Given the description of an element on the screen output the (x, y) to click on. 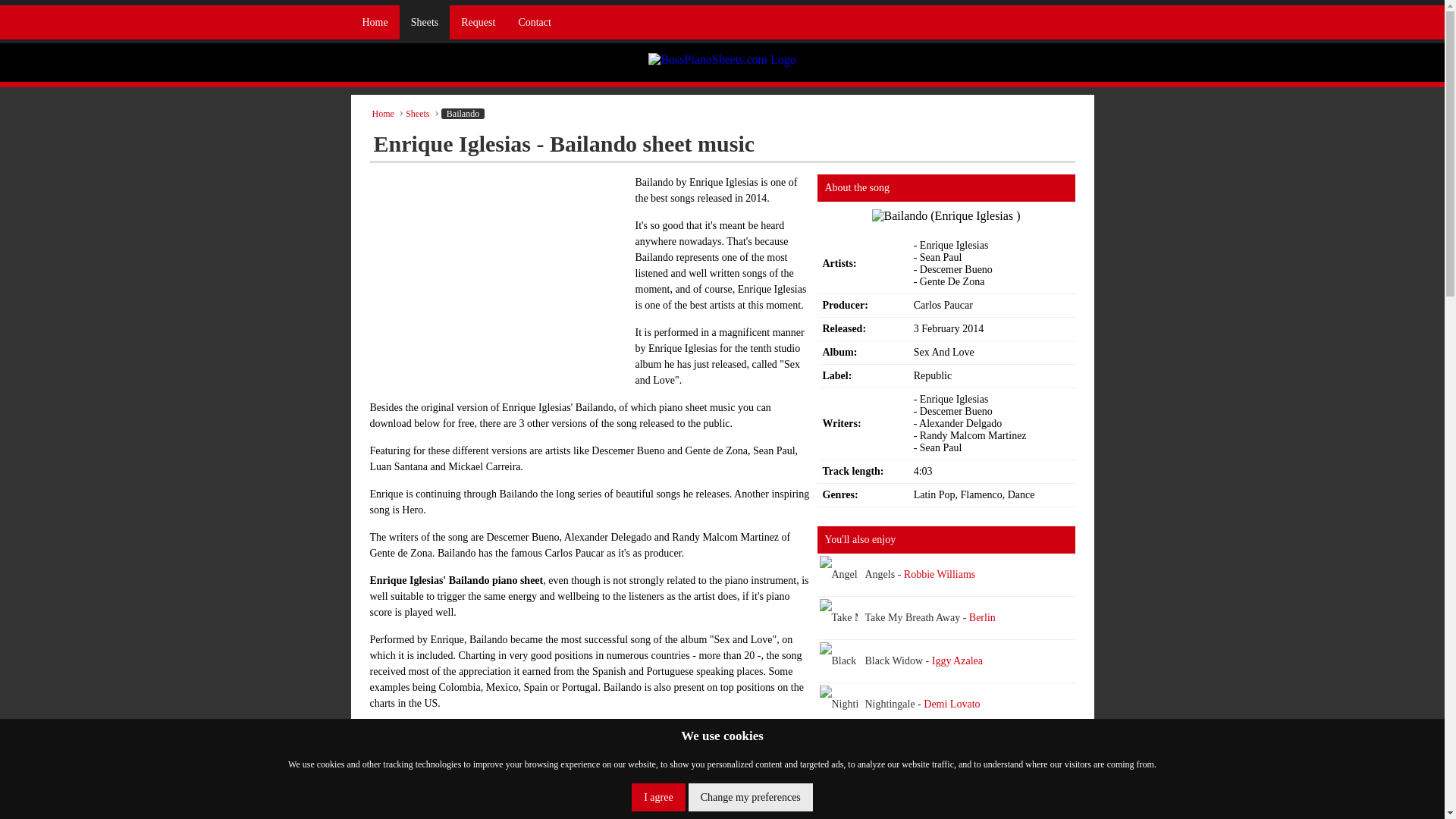
Angels - Robbie Williams (945, 575)
He's A Pirate - Klaus Badelt (877, 747)
Angels - Robbie Williams (874, 574)
Black Widow - Iggy Azalea (945, 661)
Take My Breath Away - Berlin (883, 617)
Sheets (417, 113)
Oh, Pretty Woman - Roy Orbison (945, 791)
I agree (657, 796)
Home (374, 21)
Nightingale - Demi Lovato (945, 704)
He's A Pirate - Klaus Badelt (945, 747)
Contact (534, 21)
Sheets (423, 21)
Nightingale - Demi Lovato (876, 704)
The Power Of Love - Celine Dion (945, 816)
